Given the description of an element on the screen output the (x, y) to click on. 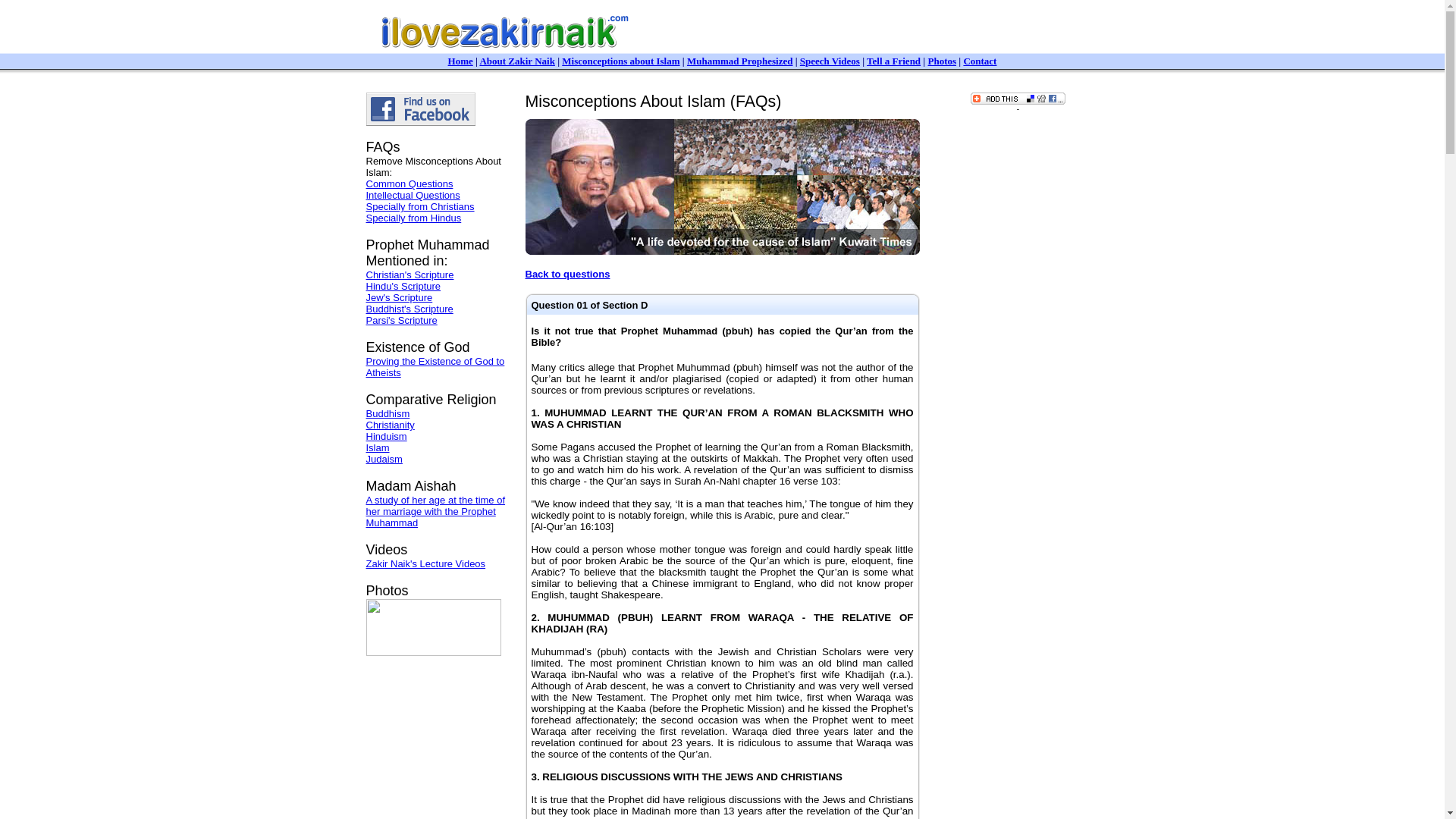
Intellectual Questions (412, 194)
Home (460, 60)
Back to questions (567, 274)
Misconceptions about Islam (620, 60)
Hindu's Scripture (403, 285)
Christian's Scripture (408, 274)
Muhammad Prophesized (740, 60)
Common Questions (408, 183)
Islam (376, 447)
